Given the description of an element on the screen output the (x, y) to click on. 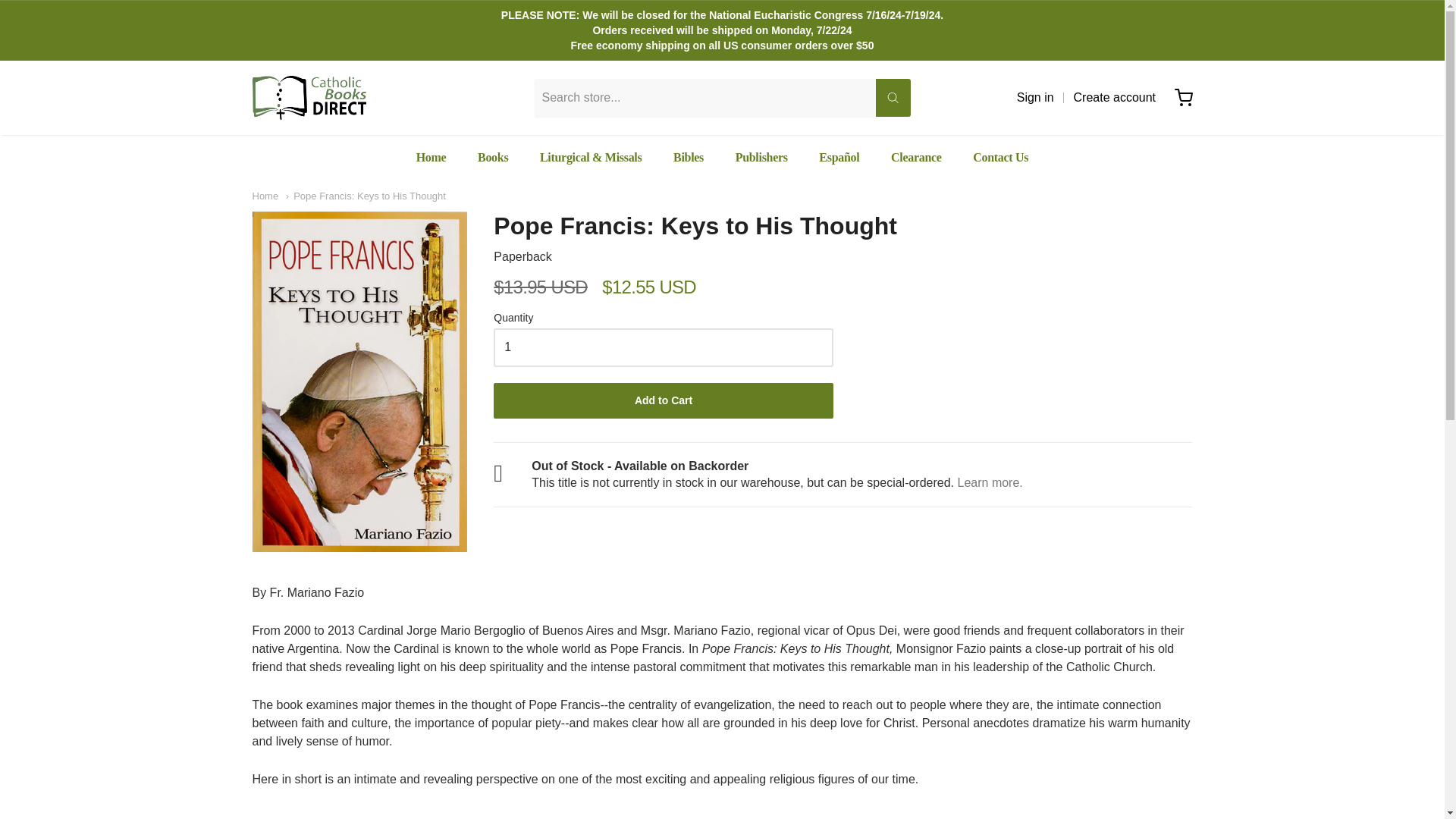
Pope Francis: Keys to His Thought (365, 195)
Catholic Books Direct (308, 97)
Create account (1115, 97)
Sign in (1035, 97)
Home (431, 157)
Home (264, 195)
1 (662, 347)
Books (492, 157)
